Given the description of an element on the screen output the (x, y) to click on. 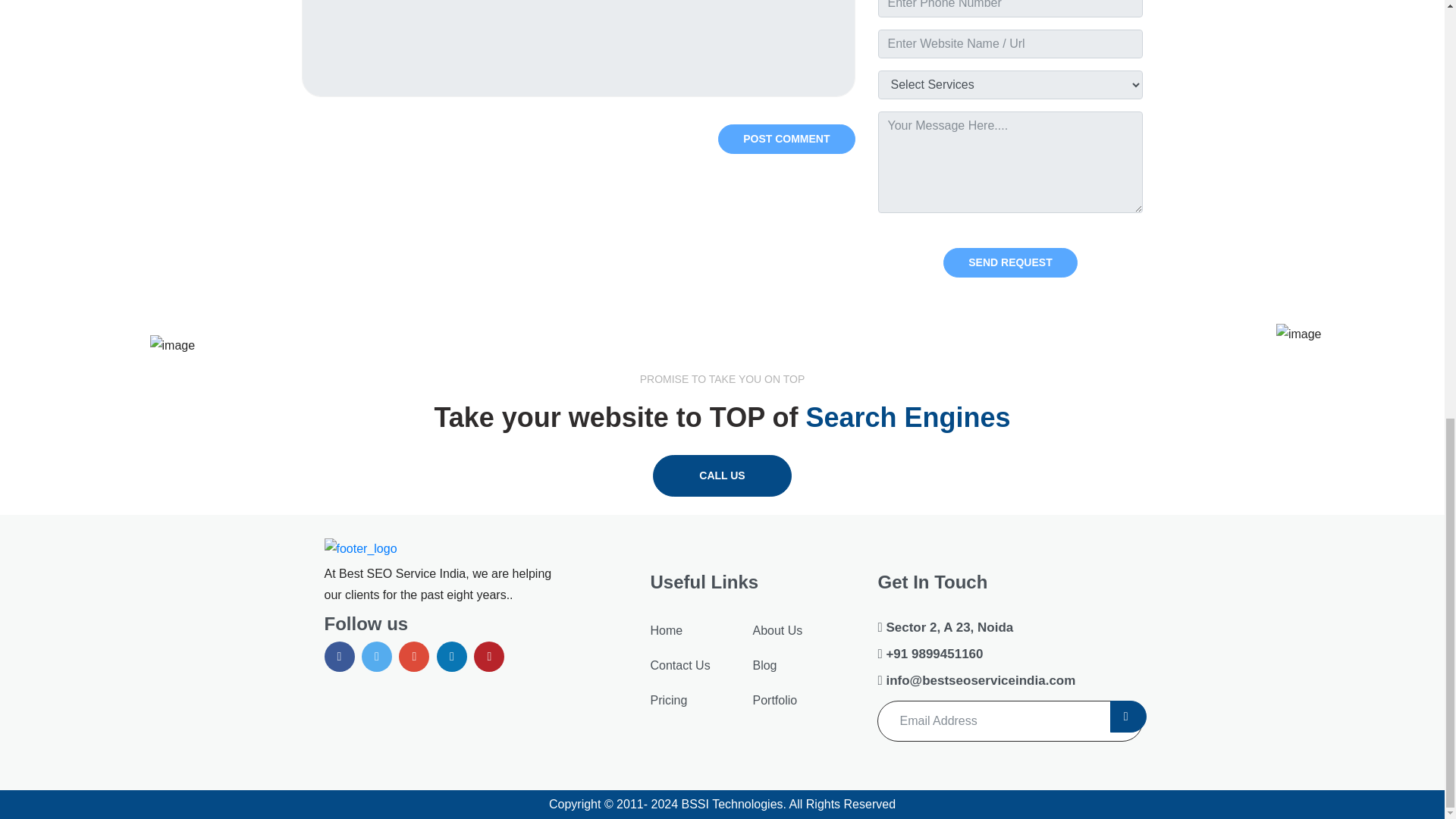
POST COMMENT (785, 138)
Home (665, 630)
Contact Us (679, 665)
CALL US (721, 475)
Please enter exactly 10 digits (1009, 8)
SEND REQUEST (1010, 262)
